Given the description of an element on the screen output the (x, y) to click on. 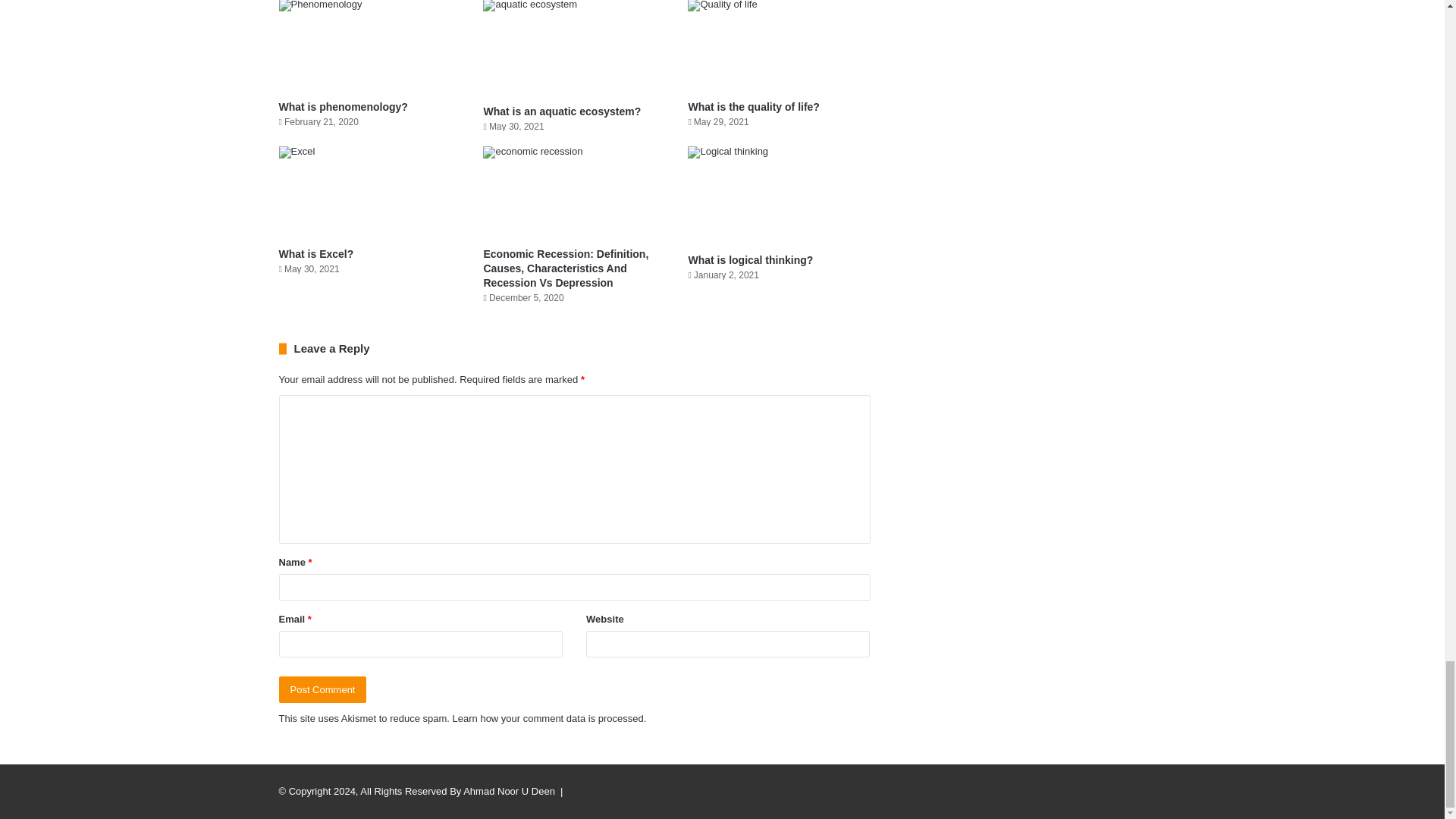
Post Comment (322, 689)
